Given the description of an element on the screen output the (x, y) to click on. 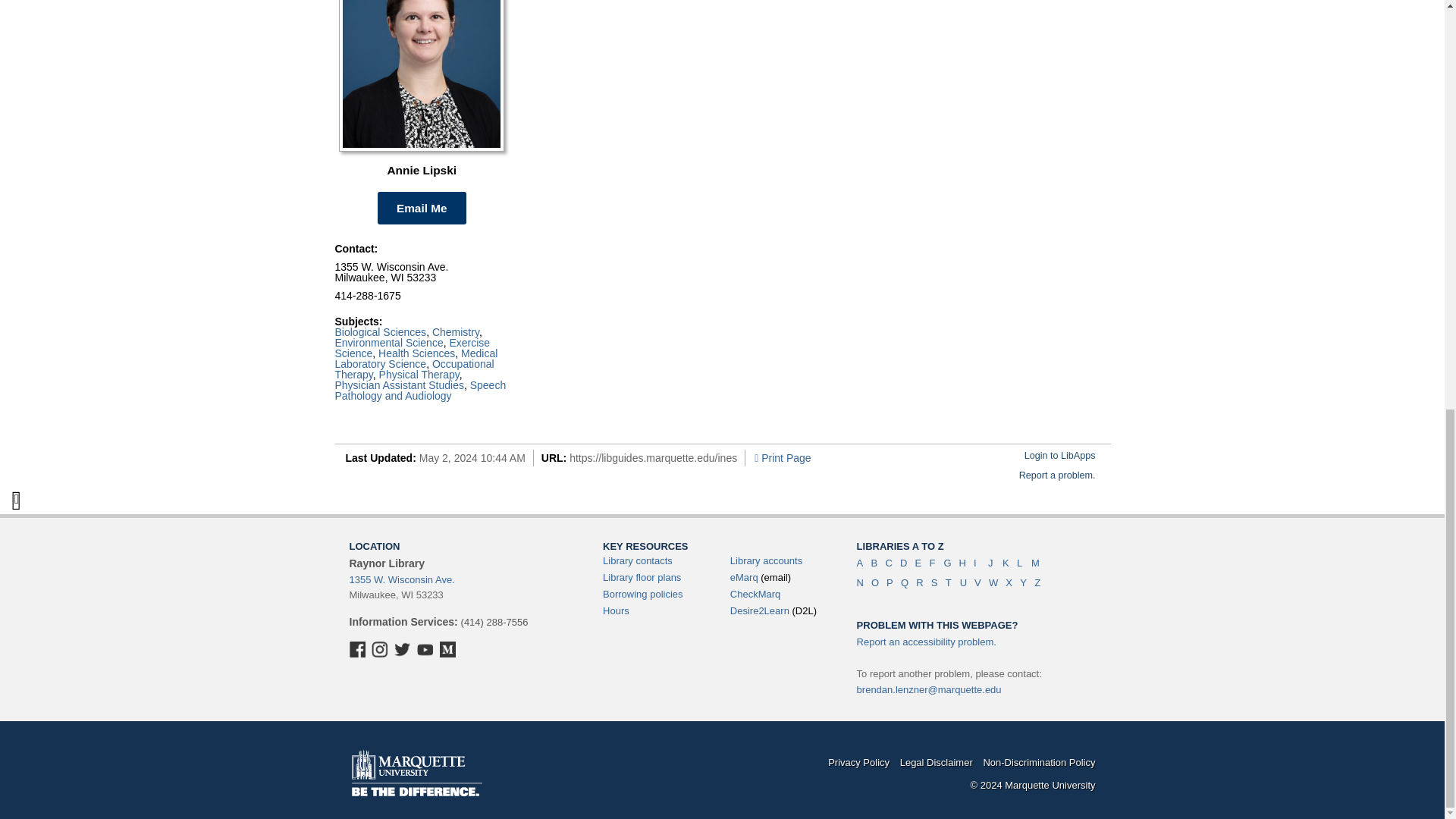
Chemistry (455, 331)
Biological Sciences (380, 331)
Health Sciences (416, 353)
Annie Lipski (421, 88)
Environmental Science (389, 342)
Occupational Therapy (414, 368)
Email Me (421, 207)
Exercise Science (412, 347)
Medical Laboratory Science (415, 358)
